Given the description of an element on the screen output the (x, y) to click on. 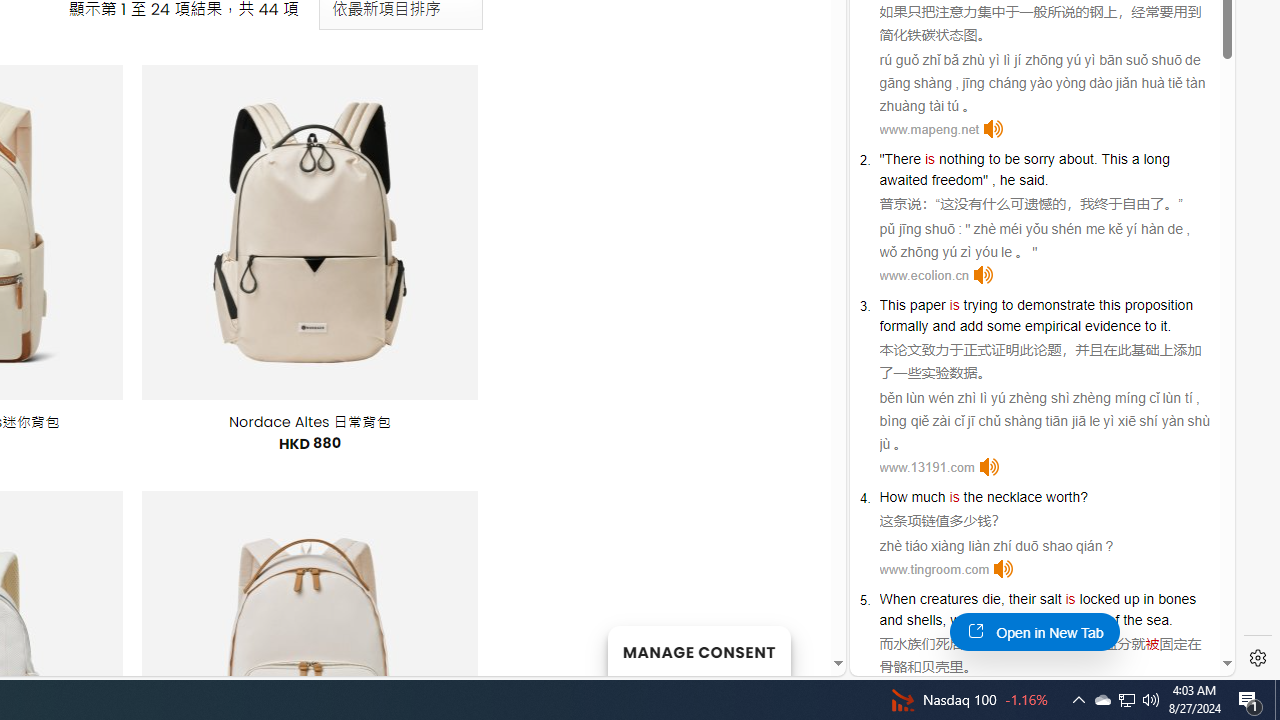
proposition (1158, 304)
worth (1063, 496)
of (1113, 619)
long (1156, 159)
to (1006, 304)
